Given the description of an element on the screen output the (x, y) to click on. 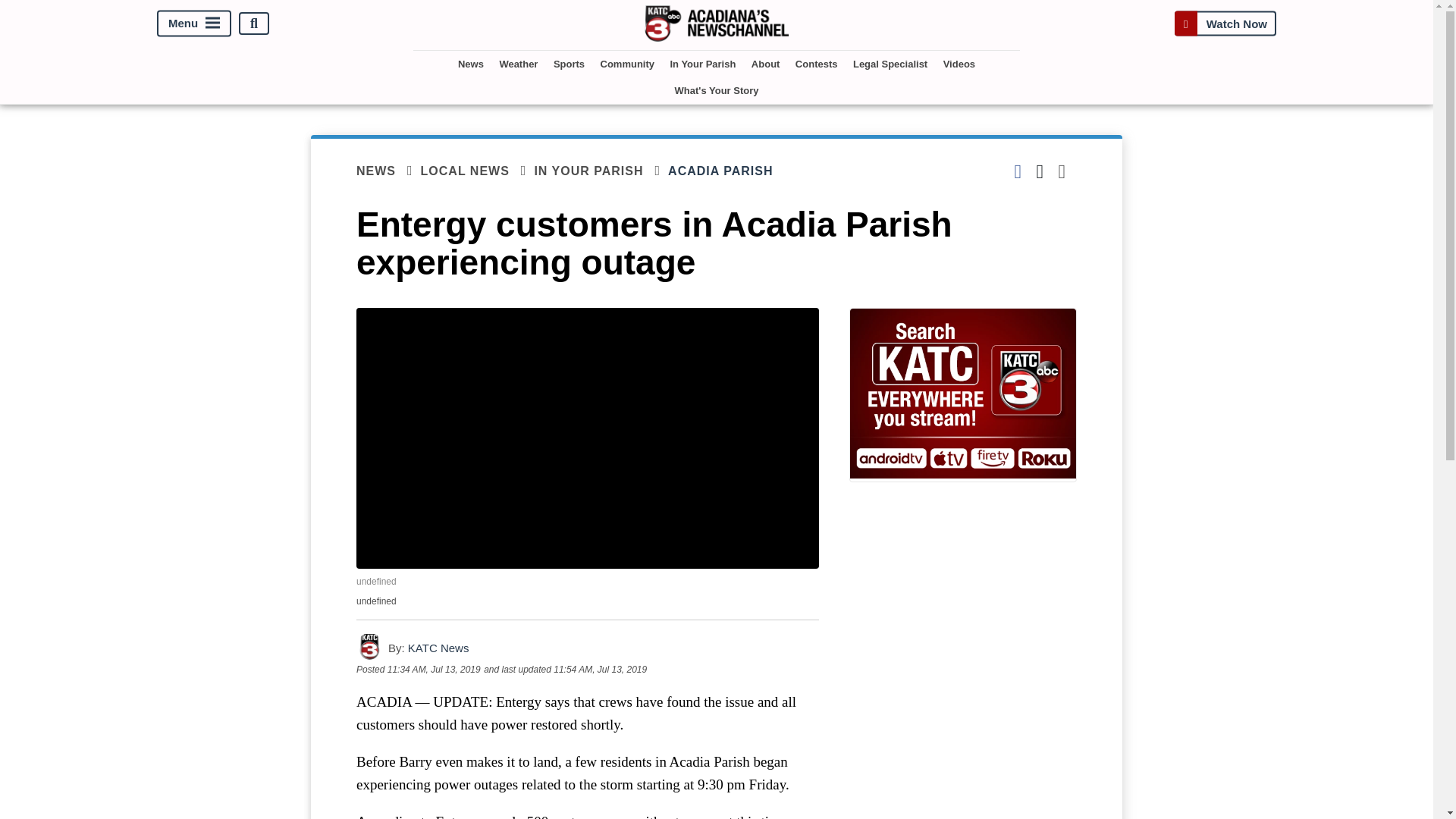
Watch Now (1224, 23)
Menu (194, 23)
